Given the description of an element on the screen output the (x, y) to click on. 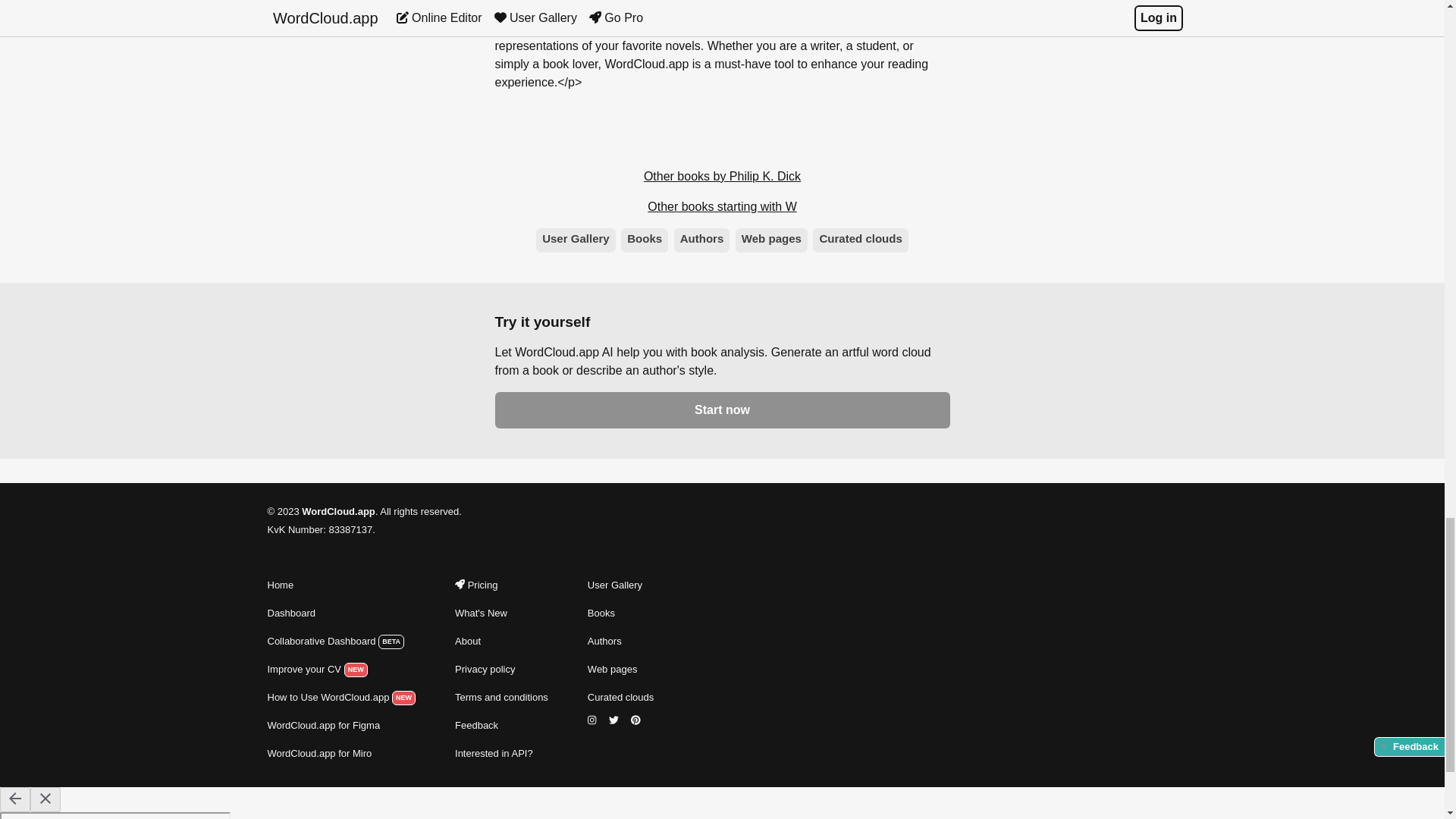
WordCloud.app dashboard (340, 613)
Web pages (771, 240)
User Gallery (620, 585)
WordClouds for hundreds of books (620, 613)
Books (644, 240)
About (501, 641)
Dashboard (340, 613)
WordCloud.app: word cloud builder (340, 585)
WordCloud.app for Miro (340, 753)
WordCloud.app dashboard (340, 641)
